Given the description of an element on the screen output the (x, y) to click on. 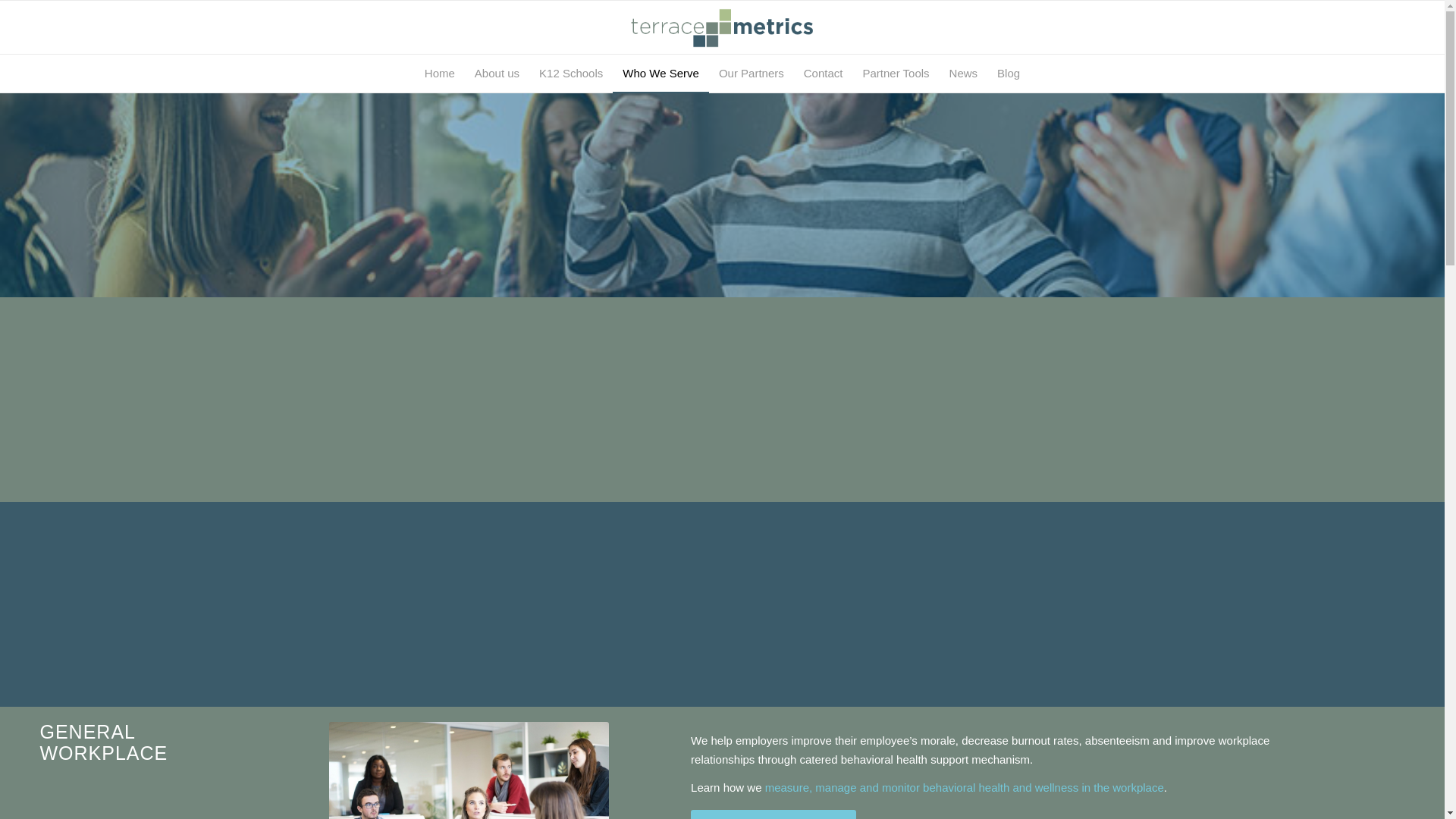
Home (439, 73)
Our Partners (751, 73)
Who We Serve (660, 73)
Contact (823, 73)
Partner Tools (895, 73)
About us (496, 73)
Blog (1008, 73)
K12 Schools (570, 73)
News (963, 73)
Terrace Metrics in the Workplace (773, 814)
